Given the description of an element on the screen output the (x, y) to click on. 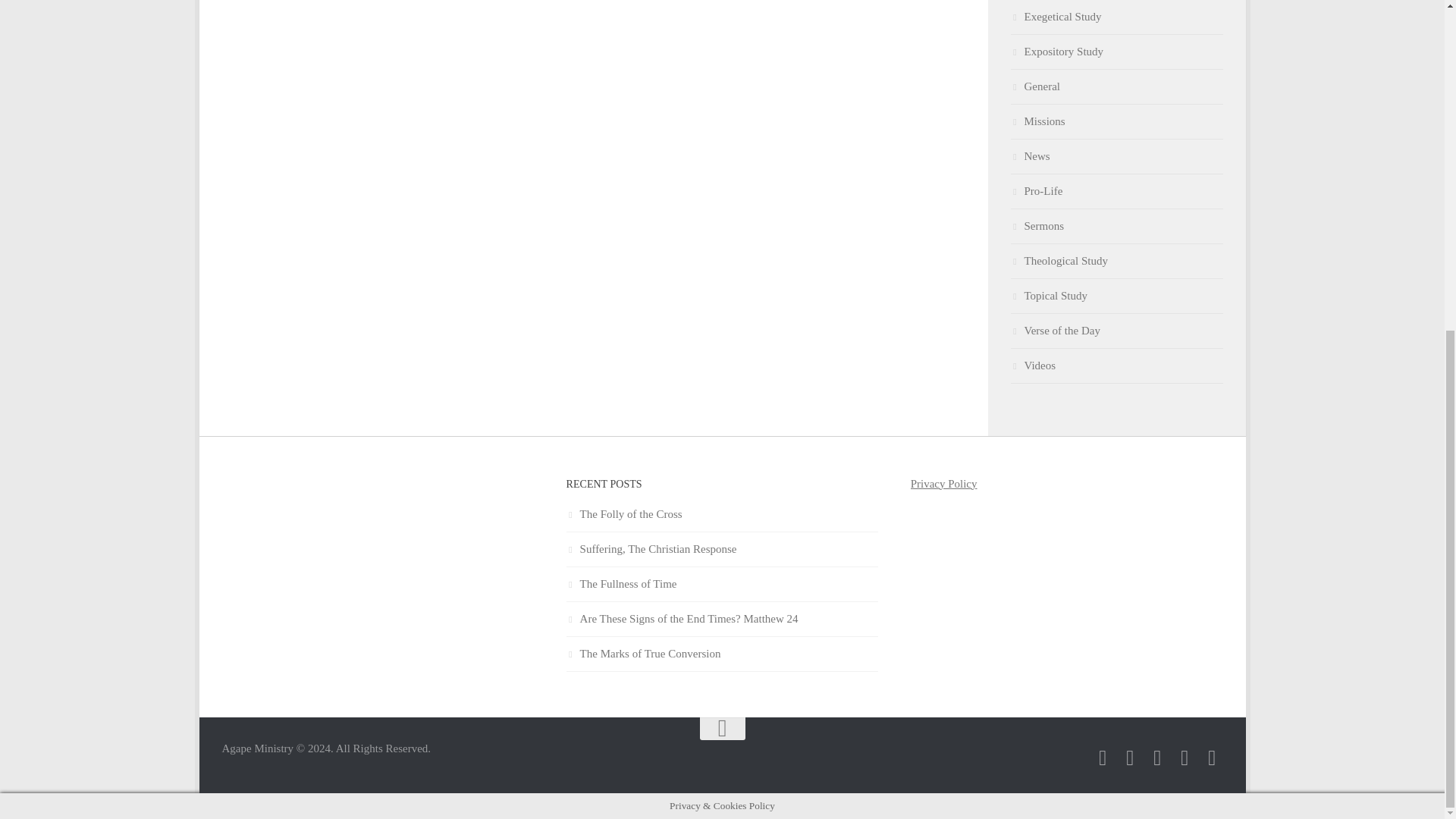
Follow us on Telegram (1129, 758)
Follow us on Facebook (1102, 758)
